Given the description of an element on the screen output the (x, y) to click on. 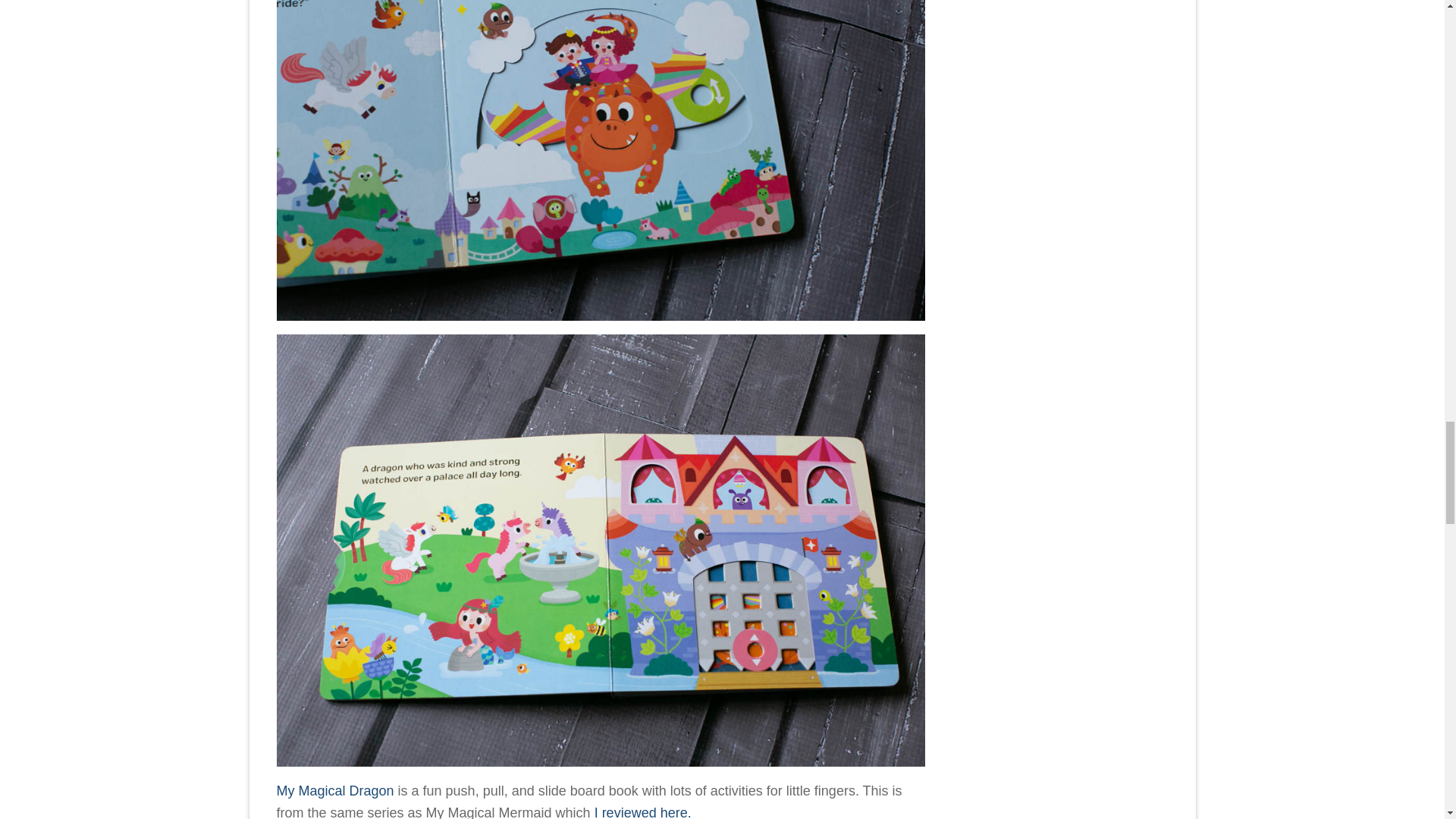
My Magical Dragon (334, 790)
I reviewed here. (642, 812)
